Given the description of an element on the screen output the (x, y) to click on. 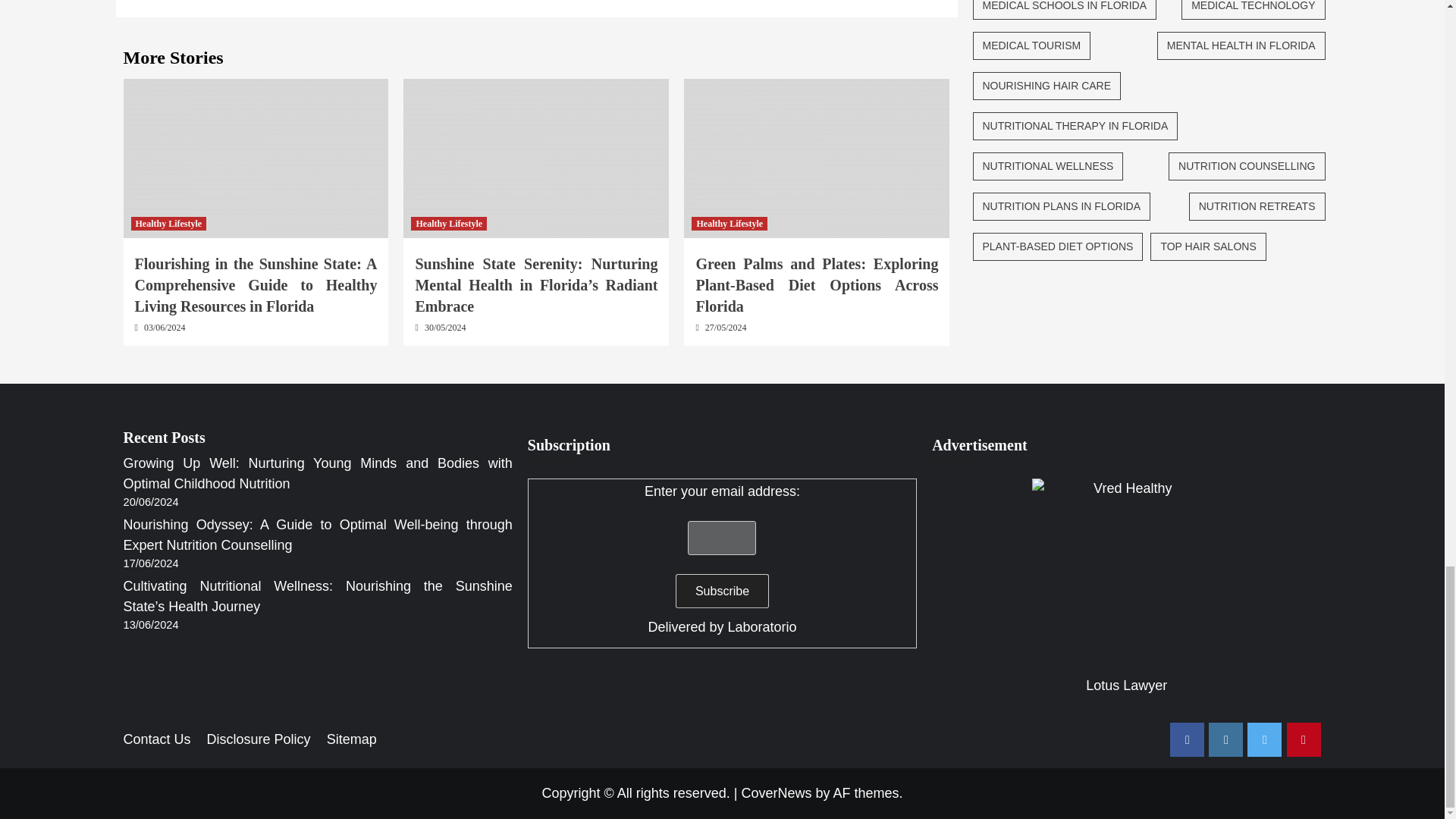
Vred Healthy (1126, 573)
Healthy Lifestyle (729, 223)
Subscribe (721, 591)
Healthy Lifestyle (168, 223)
Healthy Lifestyle (448, 223)
